Given the description of an element on the screen output the (x, y) to click on. 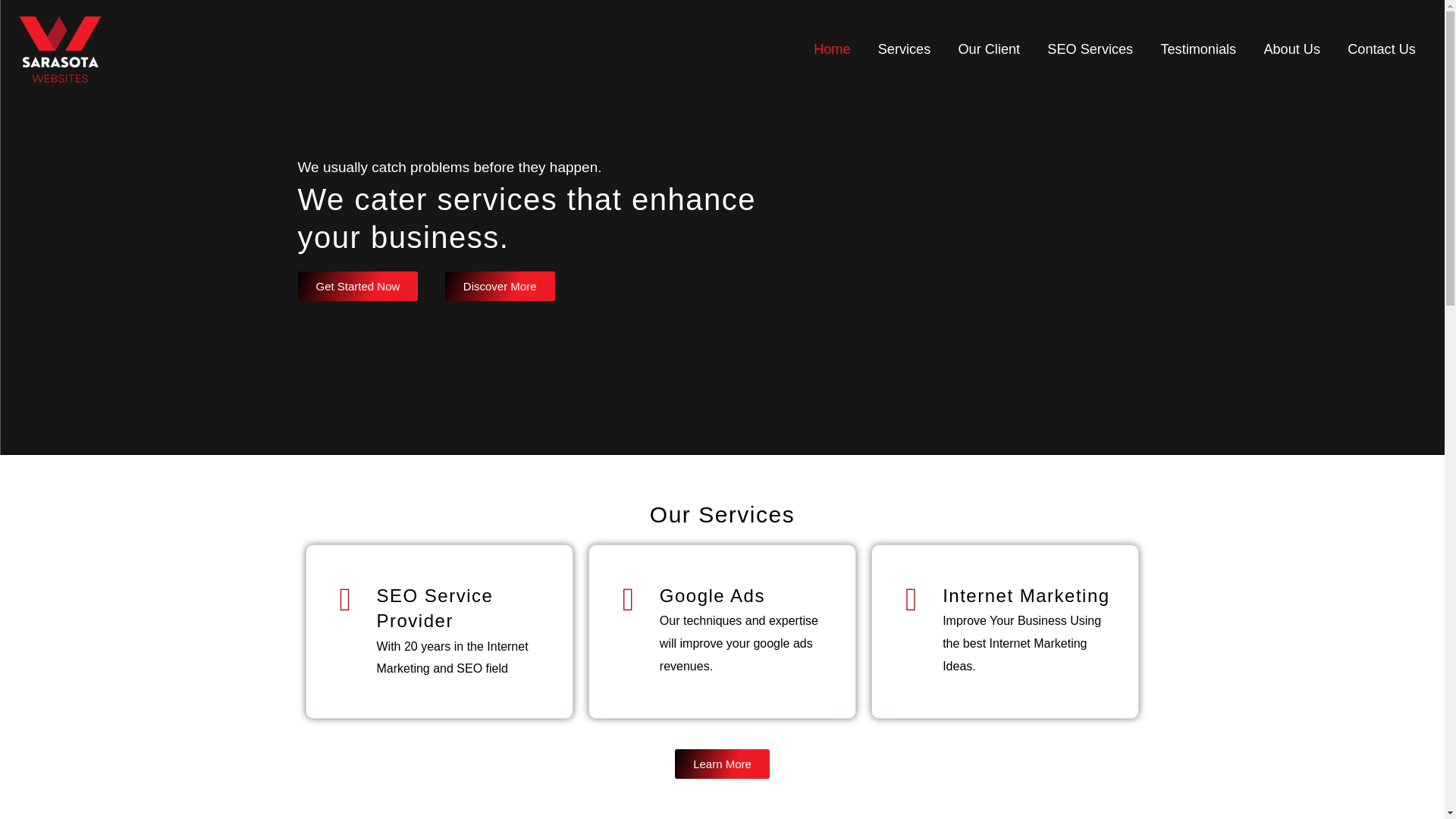
About Us (1291, 49)
Our Client (988, 49)
Get Started Now (357, 286)
Discover More (499, 286)
Learn More (722, 763)
Home (831, 49)
SEO Services (1090, 49)
Contact Us (1381, 49)
Testimonials (1198, 49)
Services (904, 49)
